Given the description of an element on the screen output the (x, y) to click on. 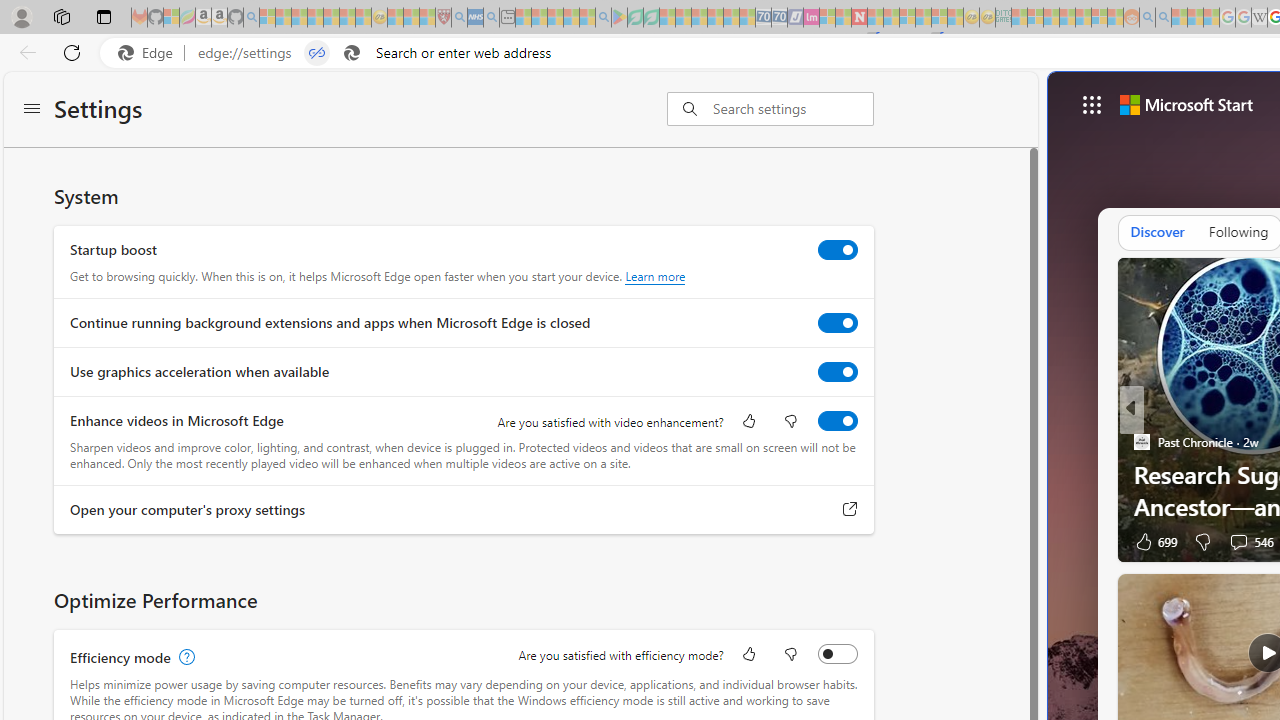
utah sues federal government - Search - Sleeping (491, 17)
Settings menu (31, 110)
Search icon (351, 53)
4 Like (1148, 541)
